Given the description of an element on the screen output the (x, y) to click on. 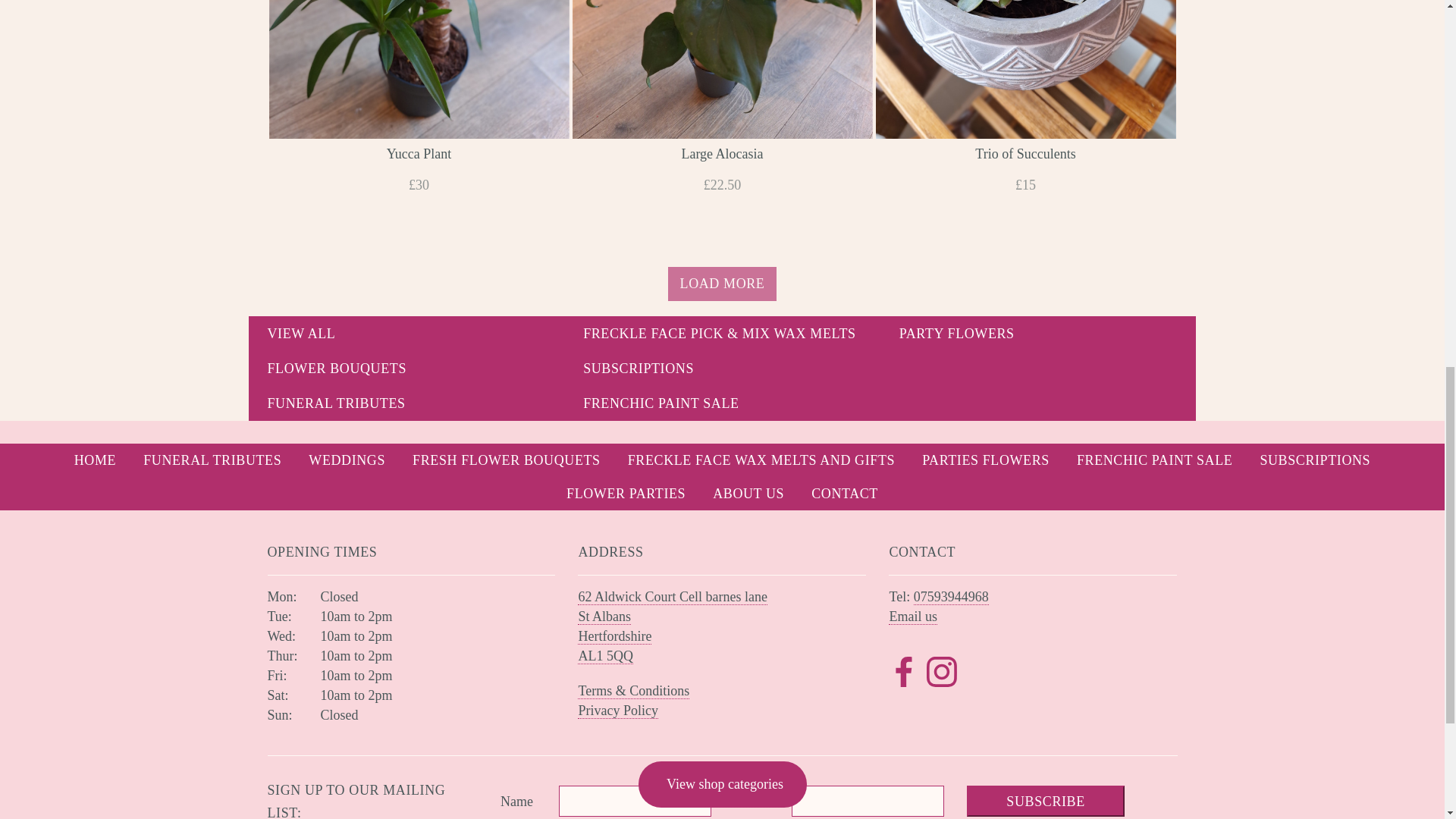
PARTY FLOWERS (1038, 333)
VIEW ALL (406, 333)
FRENCHIC PAINT SALE (722, 402)
FUNERAL TRIBUTES (406, 402)
SUBSCRIPTIONS (722, 368)
FLOWER BOUQUETS (406, 368)
LOAD MORE (722, 283)
